Given the description of an element on the screen output the (x, y) to click on. 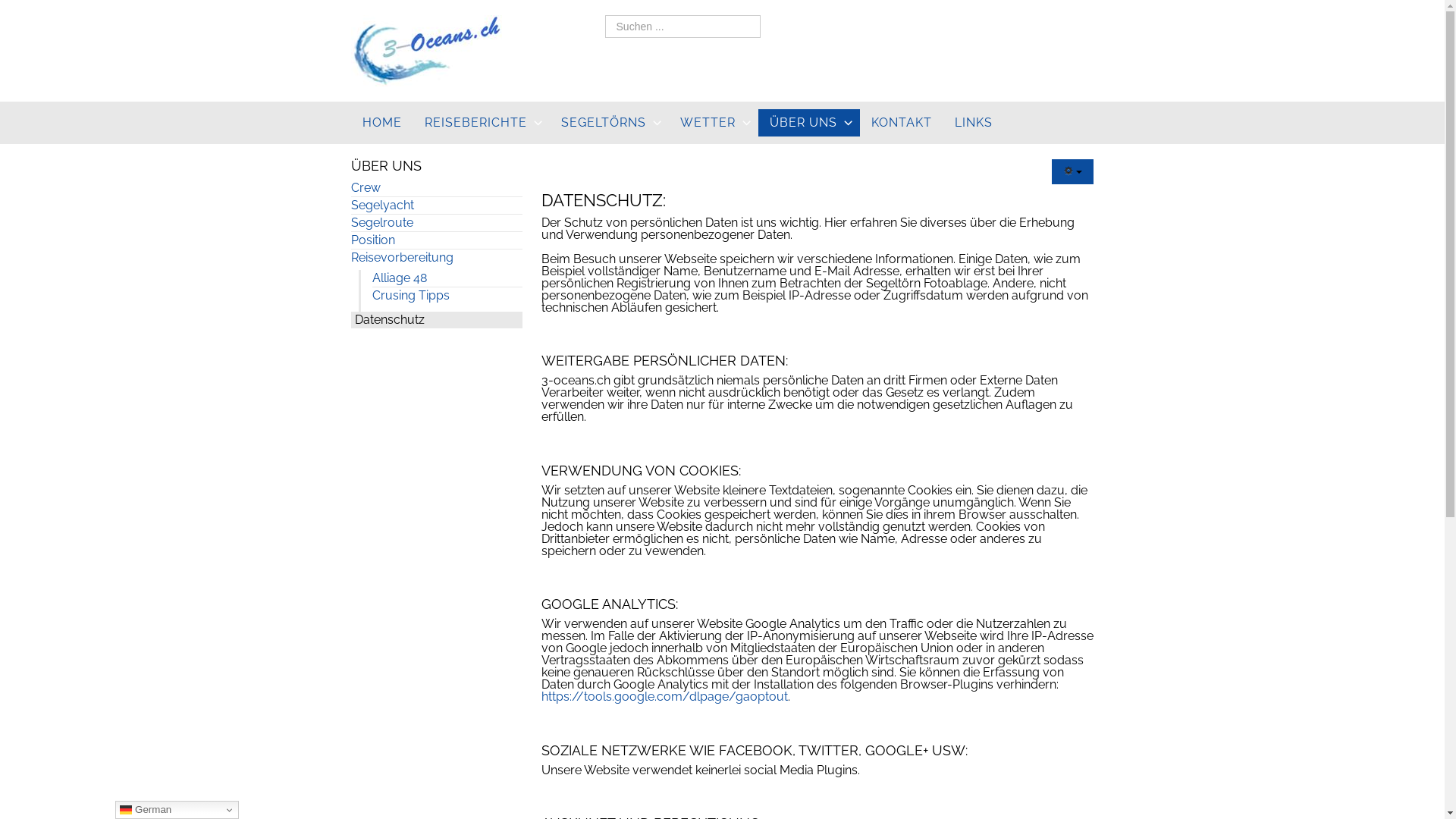
Datenschutz Element type: text (435, 319)
Position Element type: text (435, 240)
Segelroute Element type: text (435, 222)
Alliage 48 Element type: text (446, 277)
REISEBERICHTE Element type: text (480, 122)
https://tools.google.com/dlpage/gaoptout Element type: text (664, 696)
Crusing Tipps Element type: text (446, 295)
KONTAKT Element type: text (901, 122)
HOME Element type: text (381, 122)
WETTER Element type: text (713, 122)
3-oceans.ch Element type: hover (425, 49)
Crew Element type: text (435, 187)
Reisevorbereitung Element type: text (435, 257)
Segelyacht Element type: text (435, 205)
LINKS Element type: text (973, 122)
